Given the description of an element on the screen output the (x, y) to click on. 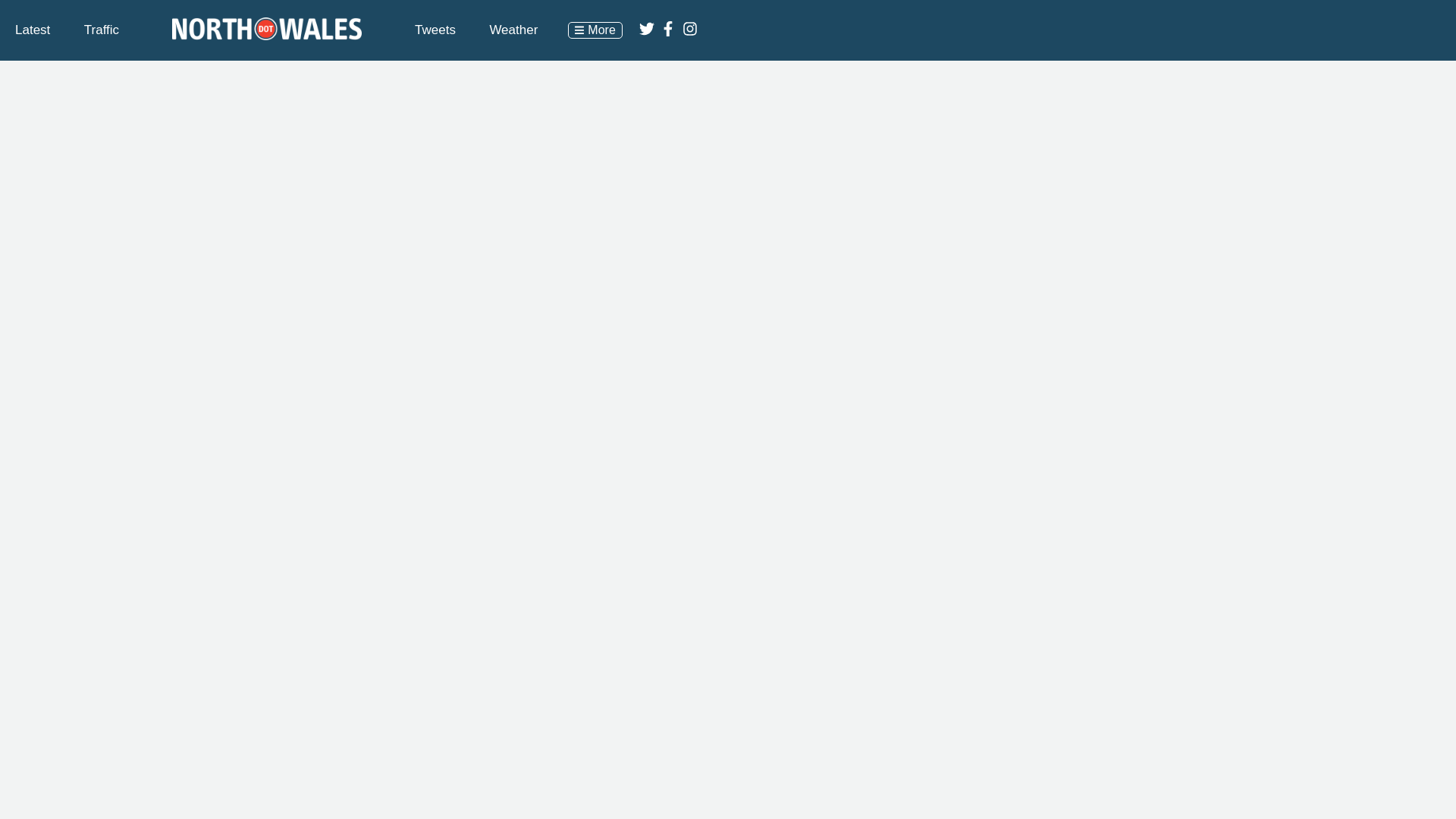
Traffic (101, 29)
Latest (31, 29)
Tweets (434, 29)
Weather (513, 29)
